Given the description of an element on the screen output the (x, y) to click on. 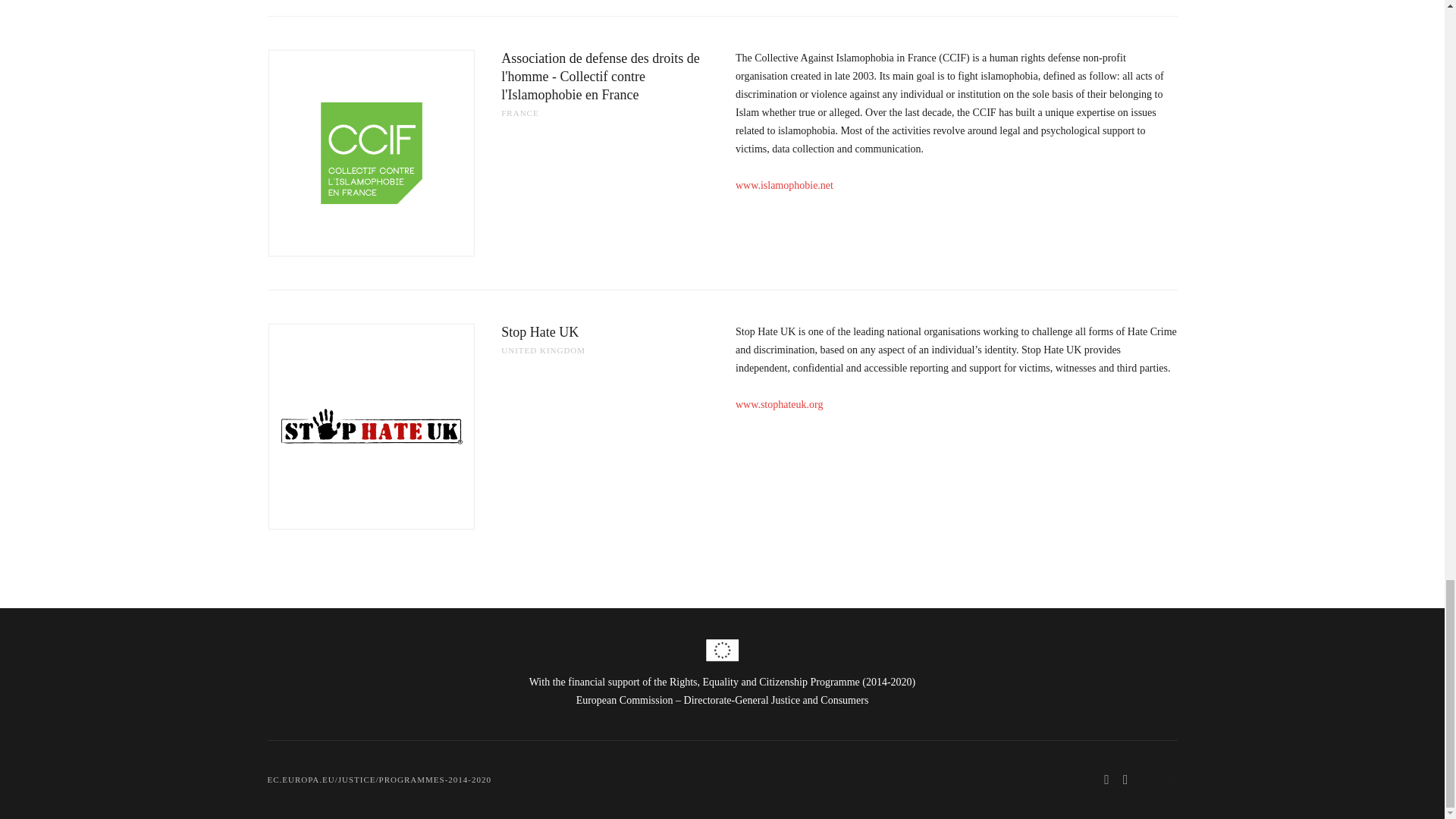
www.stophateuk.org (779, 404)
www.islamophobie.net (783, 184)
